Given the description of an element on the screen output the (x, y) to click on. 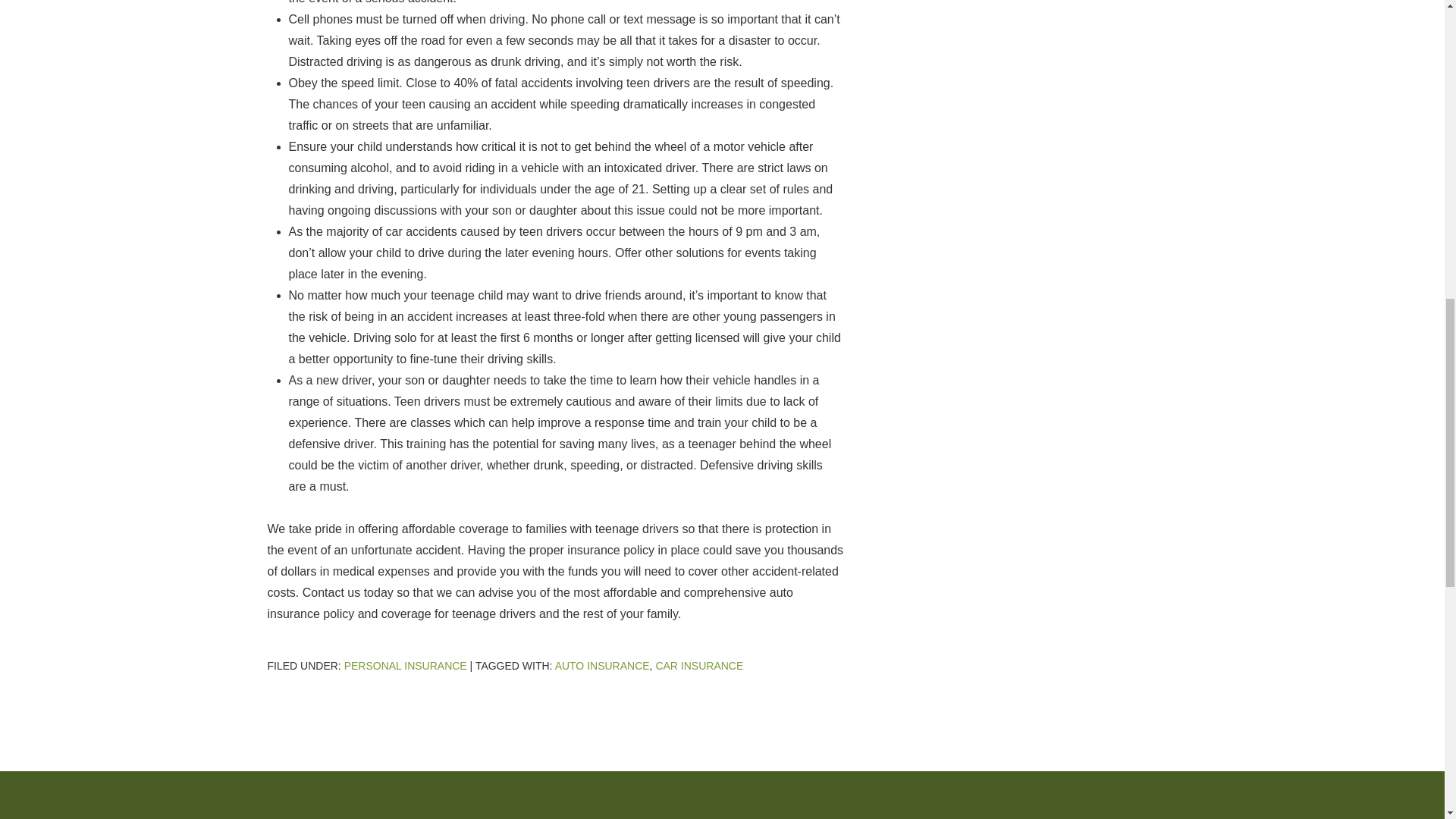
Car Insurance (698, 665)
Personal Insurance (405, 665)
Auto Insurance (601, 665)
